Given the description of an element on the screen output the (x, y) to click on. 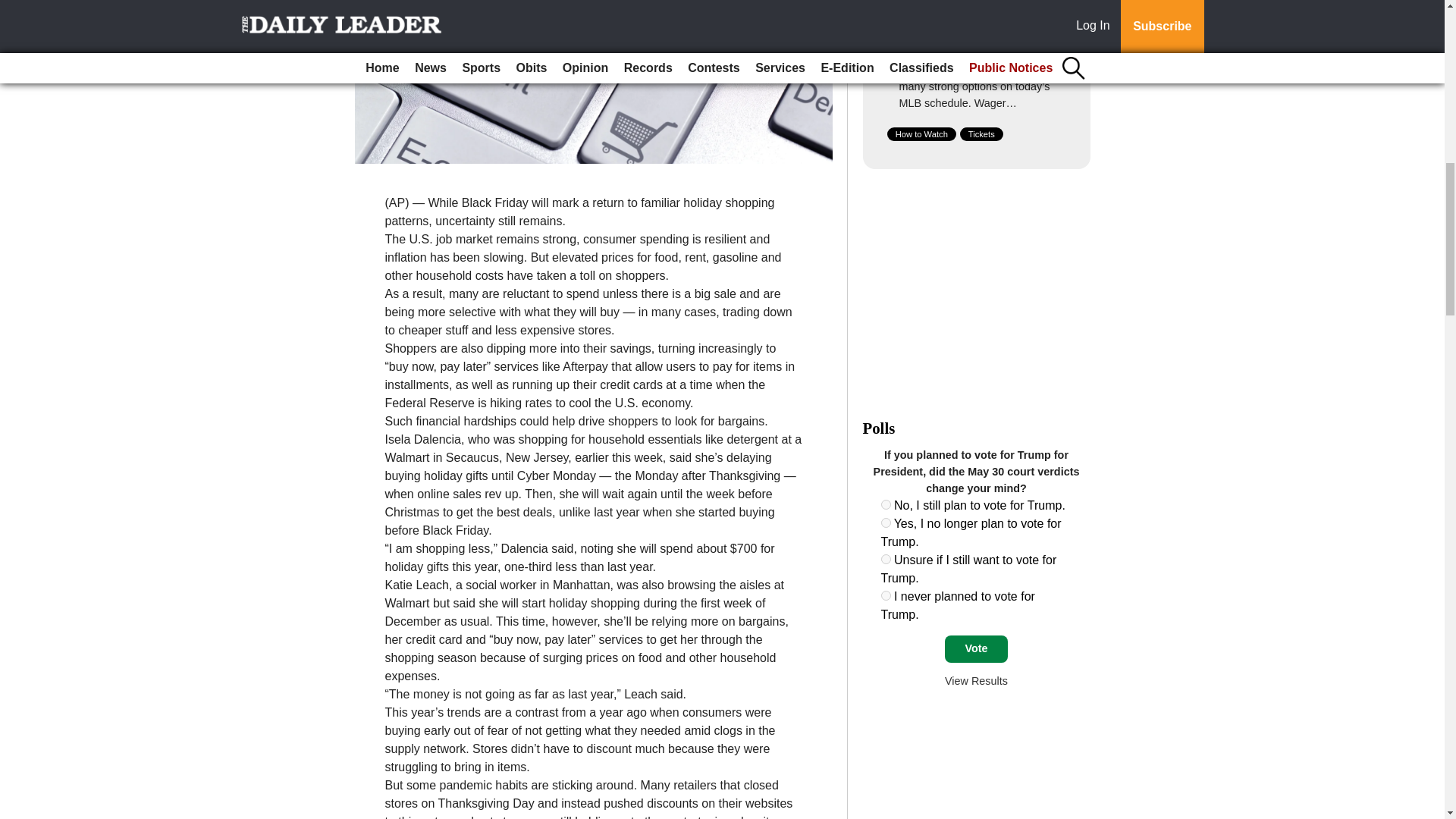
   Vote    (975, 648)
849 (885, 595)
How to Watch (921, 133)
847 (885, 522)
View Results Of This Poll (975, 680)
Tickets (981, 133)
846 (885, 504)
848 (885, 559)
